Given the description of an element on the screen output the (x, y) to click on. 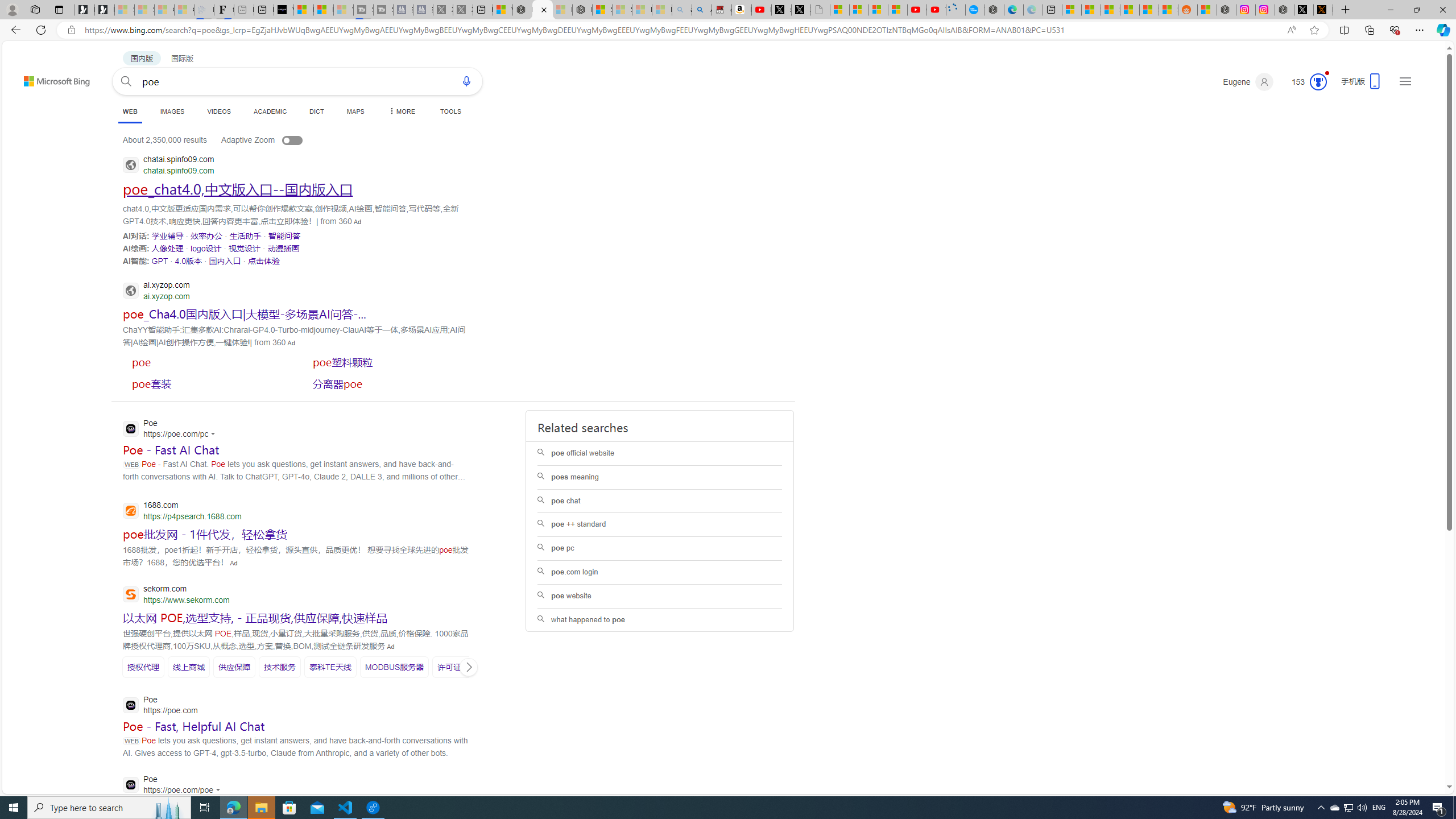
SERP,5601 (456, 666)
Copilot (Ctrl+Shift+.) (1442, 29)
SERP,5563 (206, 235)
what happened to poe (659, 619)
Browser essentials (1394, 29)
poe.com login (659, 571)
SERP,5596 (189, 667)
poe chat (659, 500)
Poe (173, 785)
Skip to content (35, 76)
Settings and more (Alt+F) (1419, 29)
